Given the description of an element on the screen output the (x, y) to click on. 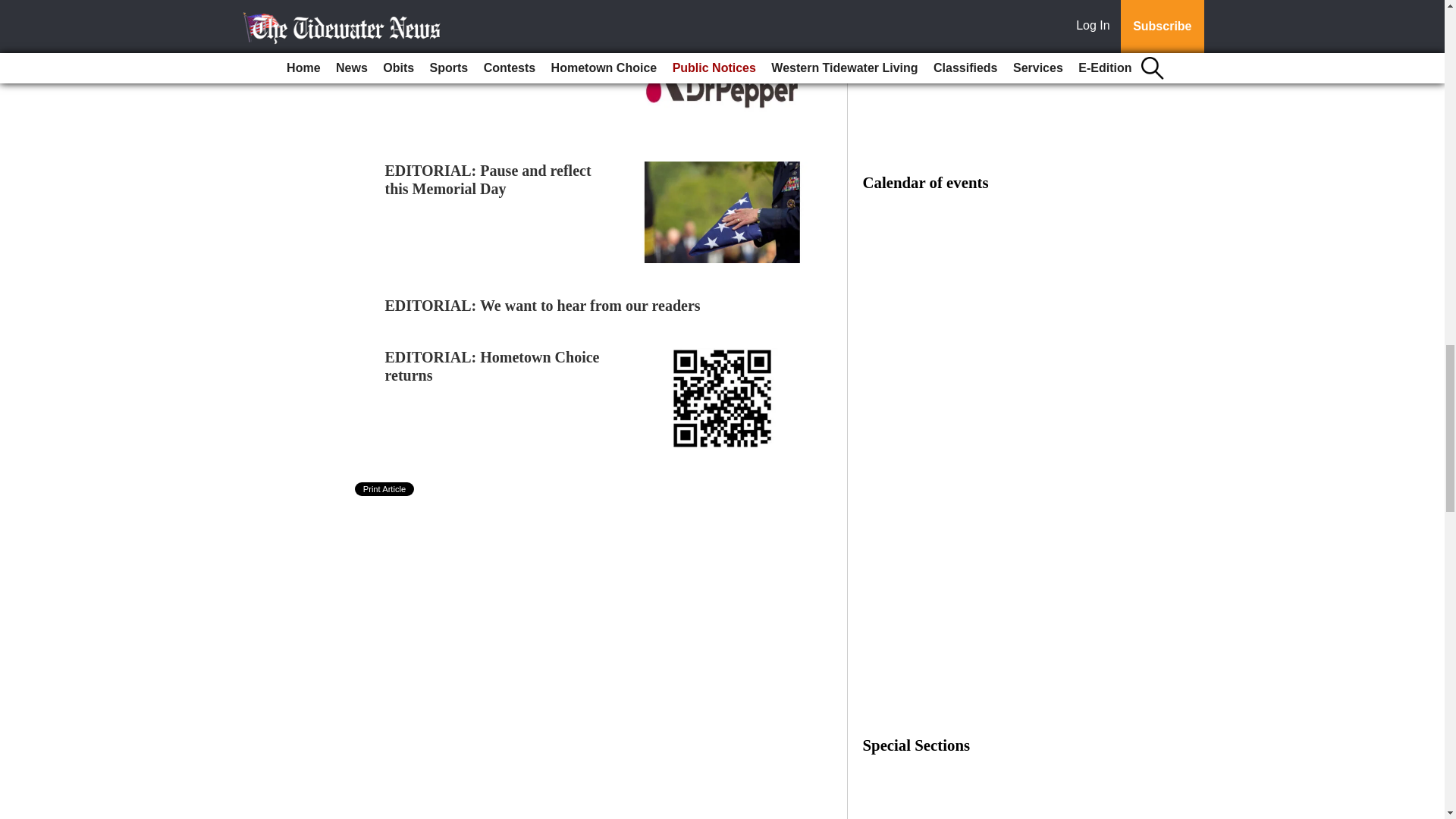
EDITORIAL: Hometown Choice returns (492, 366)
EDITORIAL: We want to hear from our readers (542, 305)
EDITORIAL: Pause and reflect this Memorial Day (488, 179)
EDITORIAL: We want to hear from our readers (542, 305)
EDITORIAL: Pause and reflect this Memorial Day (488, 179)
